Given the description of an element on the screen output the (x, y) to click on. 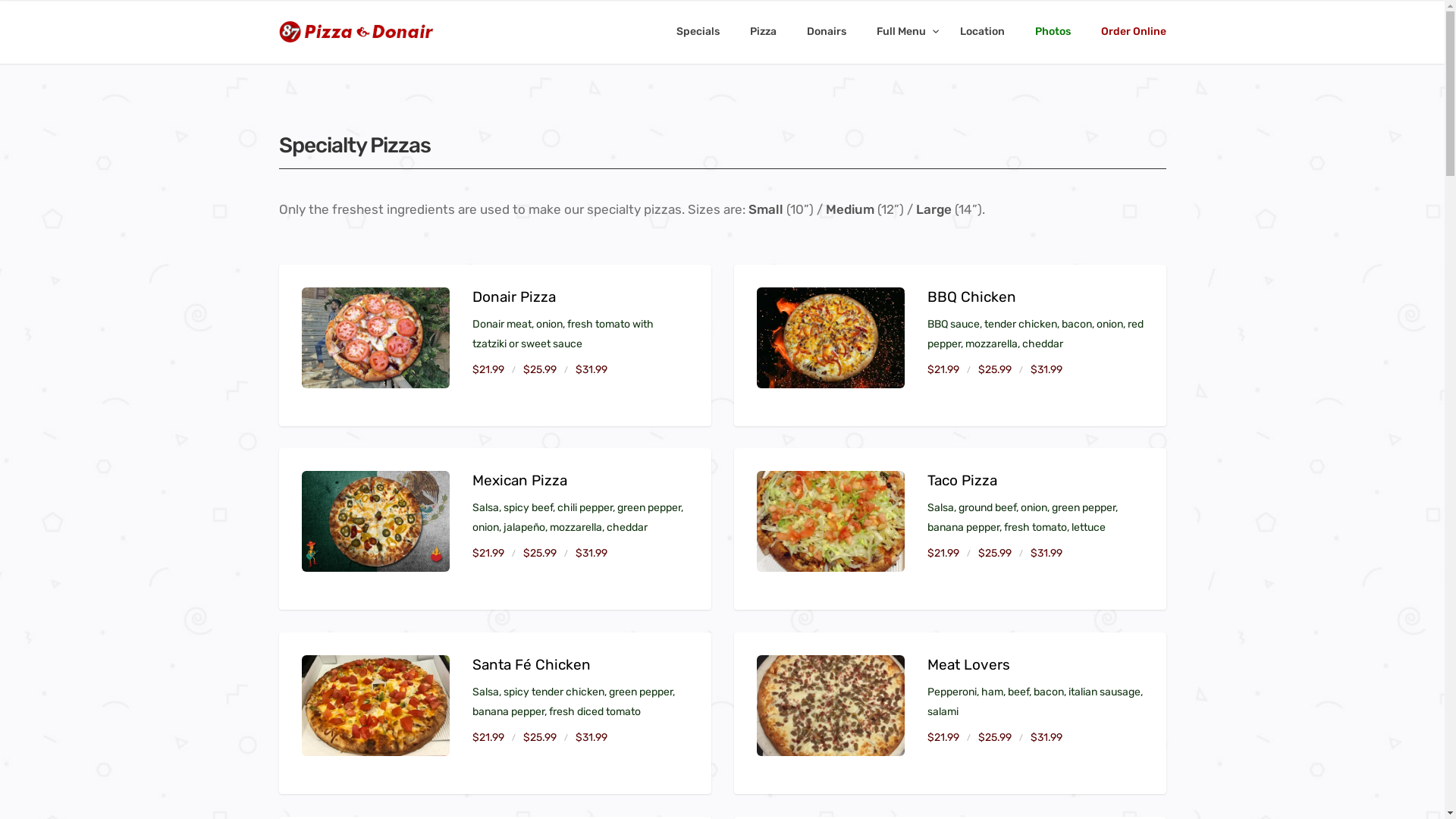
Specials Element type: text (697, 31)
Taco Pizza Element type: hover (830, 520)
Pizza Element type: text (762, 31)
Meat Lovers Element type: hover (830, 705)
Full Menu Element type: text (902, 31)
Donairs Element type: text (826, 31)
Location Element type: text (982, 31)
Photos Element type: text (1052, 31)
Mexican Pizza Element type: hover (375, 520)
Order Online Element type: text (1133, 31)
BBQ Chicken Element type: hover (830, 337)
Donair Pizza Element type: hover (375, 337)
